Given the description of an element on the screen output the (x, y) to click on. 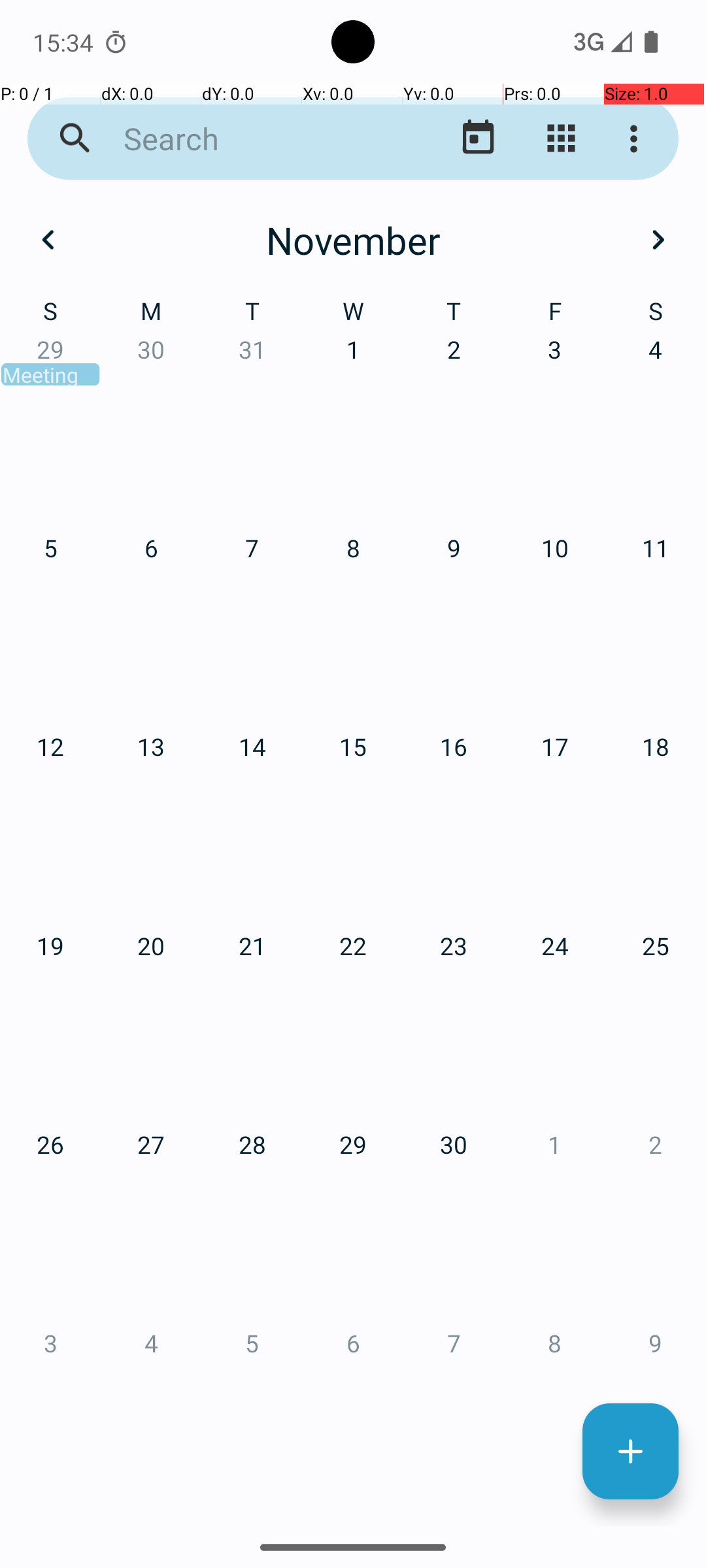
November Element type: android.widget.TextView (352, 239)
